Given the description of an element on the screen output the (x, y) to click on. 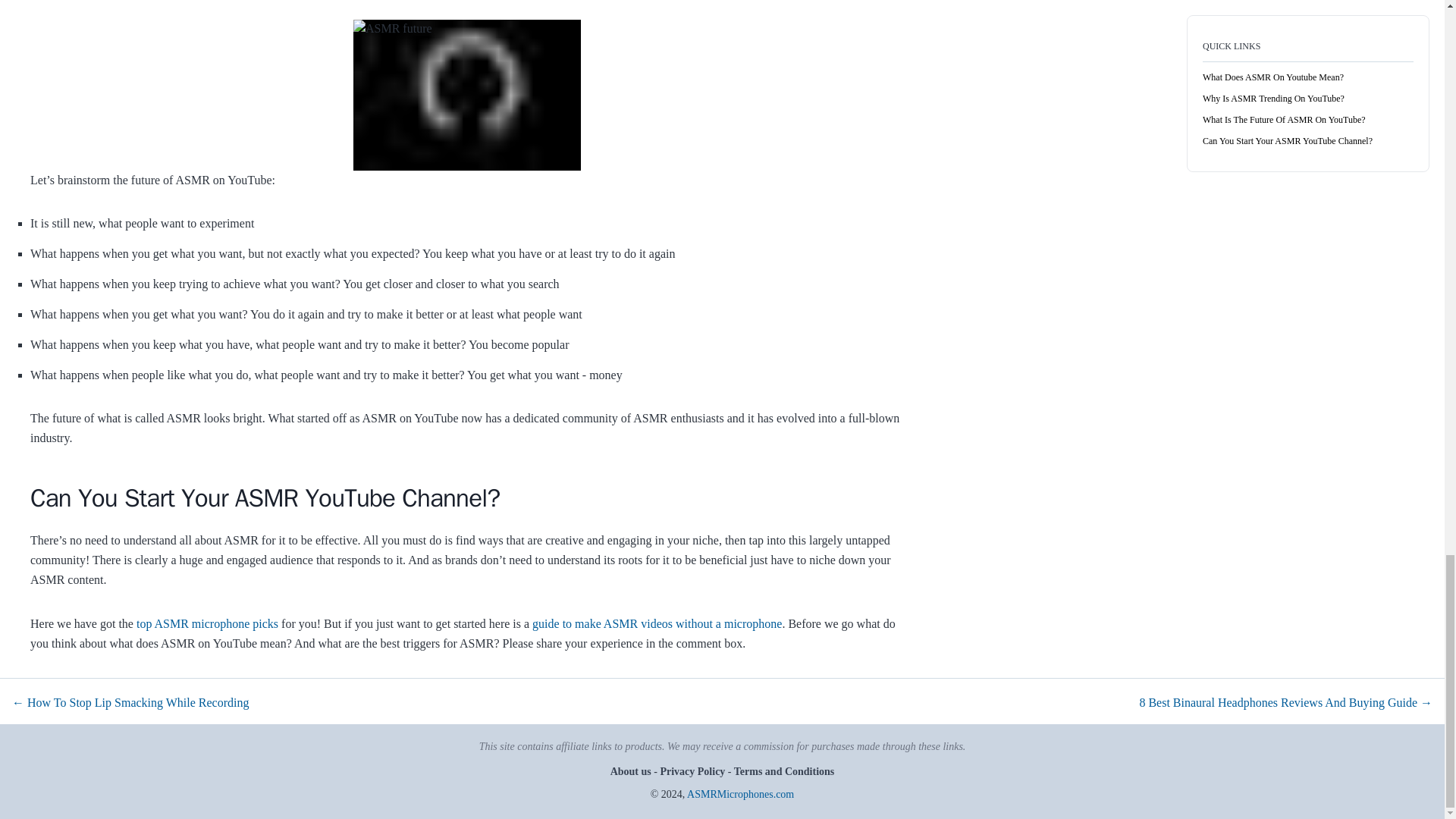
ASMRMicrophones.com (740, 794)
guide to make ASMR videos without a microphone (656, 623)
About us (631, 771)
Privacy Policy (693, 771)
top ASMR microphone picks (207, 623)
Terms and Conditions (783, 771)
